Given the description of an element on the screen output the (x, y) to click on. 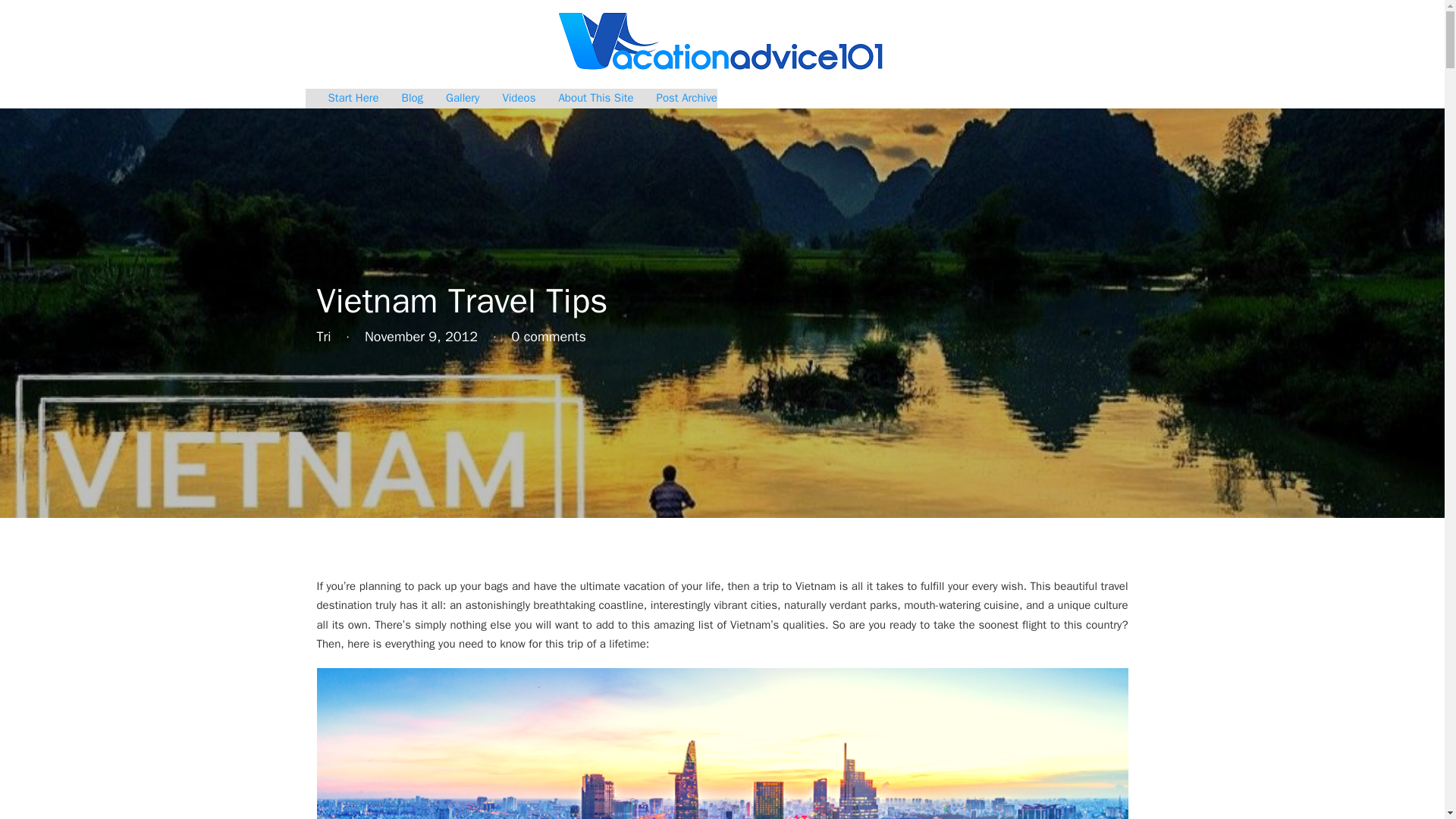
Blog (412, 98)
About This Site (595, 98)
Videos (518, 98)
Start Here (352, 98)
Post Archive (686, 98)
Gallery (462, 98)
